Given the description of an element on the screen output the (x, y) to click on. 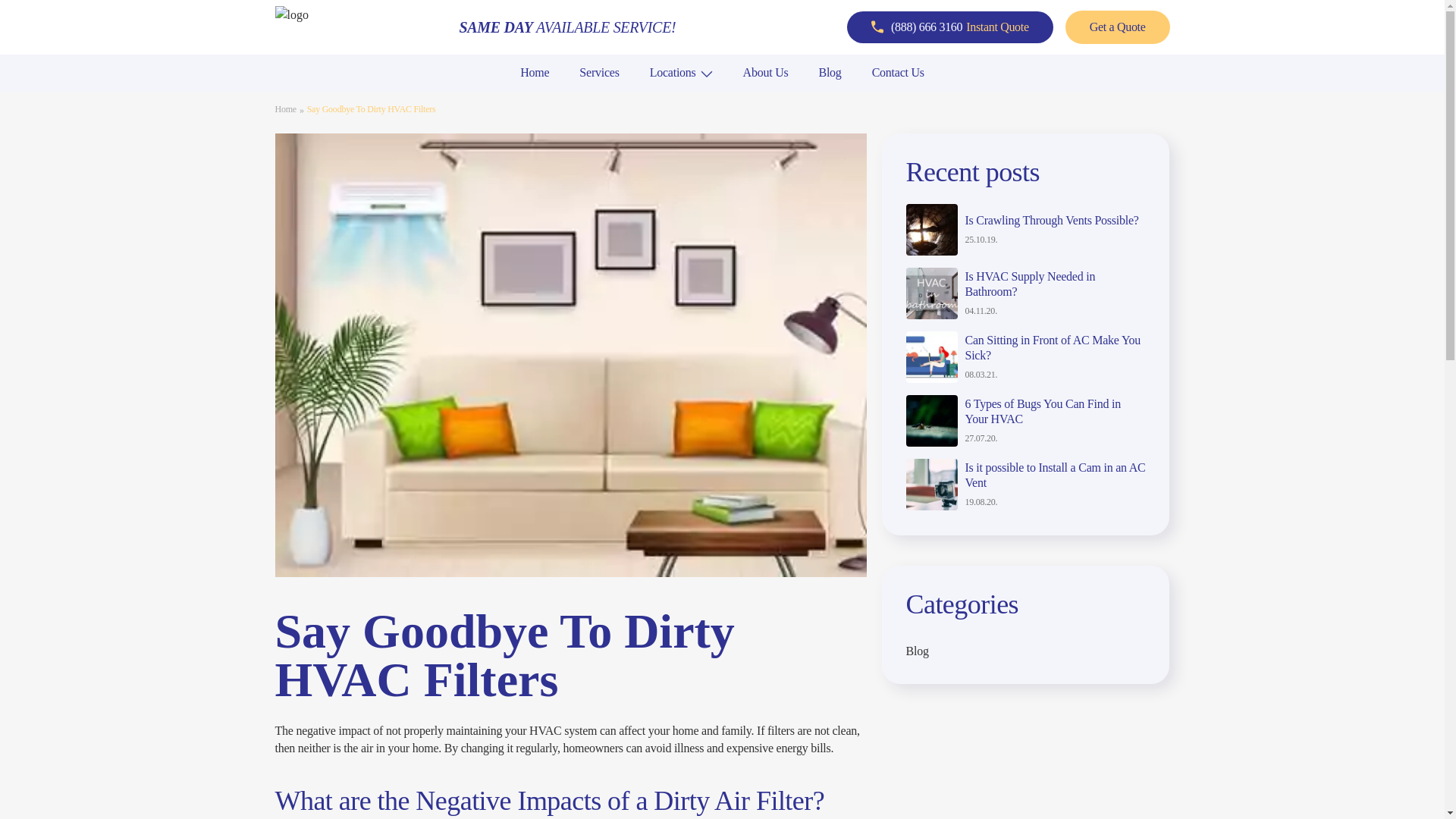
Air Duct Cleaning in Illinois (586, 97)
Services (598, 72)
Coral Gables (322, 97)
Get a Quote (1117, 27)
Home (533, 72)
Wheeling (537, 97)
Boca Raton (319, 97)
Air Duct Cleaning in Massachusetts (828, 97)
Air duct cleaning Florida (355, 97)
Germantown (545, 97)
Washington DC (330, 97)
Pompano Beach (330, 97)
Wilmington (766, 97)
Air Duct Cleaning DC (348, 97)
Brewster (759, 97)
